Given the description of an element on the screen output the (x, y) to click on. 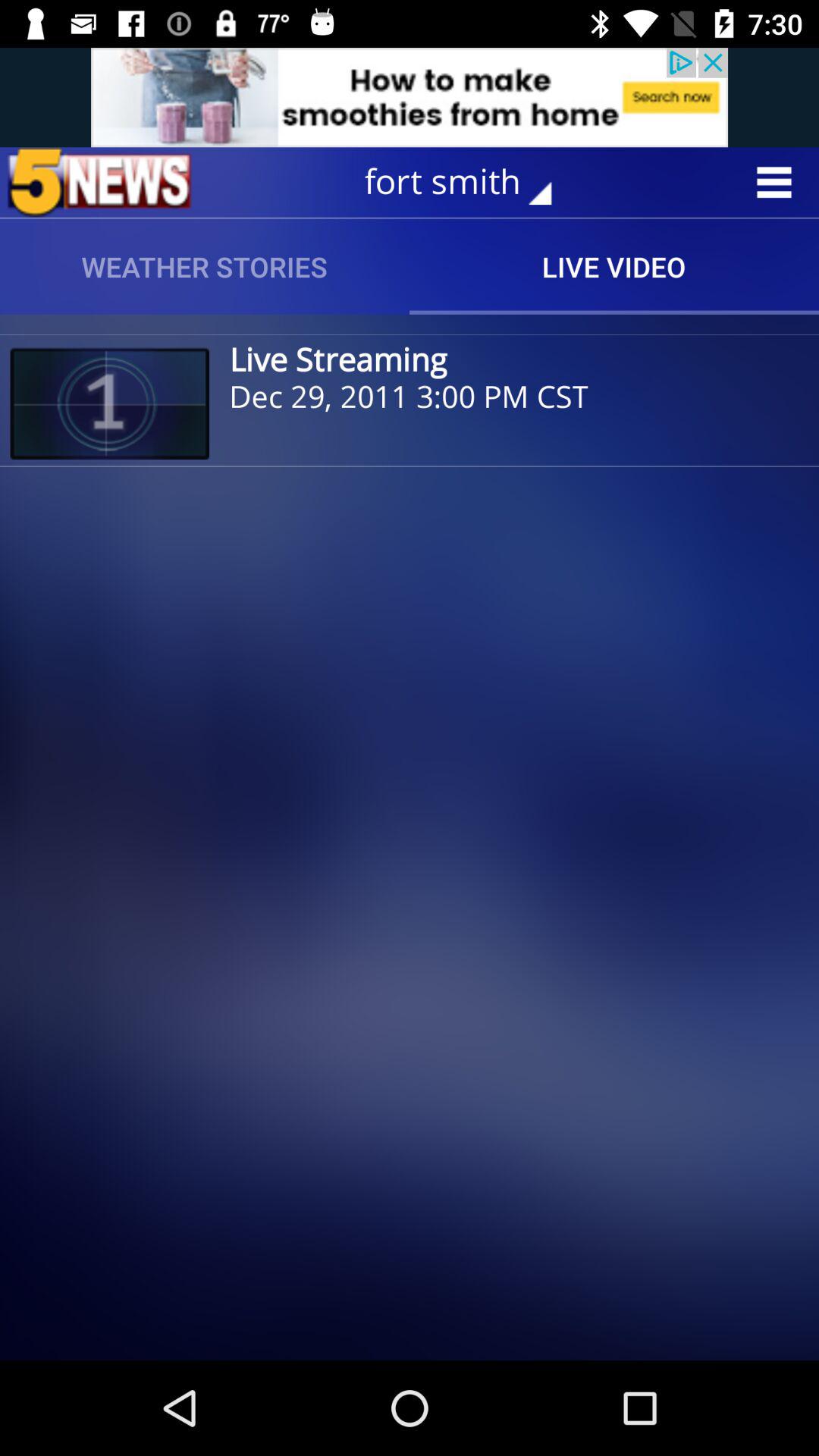
for advertisement (409, 97)
